Given the description of an element on the screen output the (x, y) to click on. 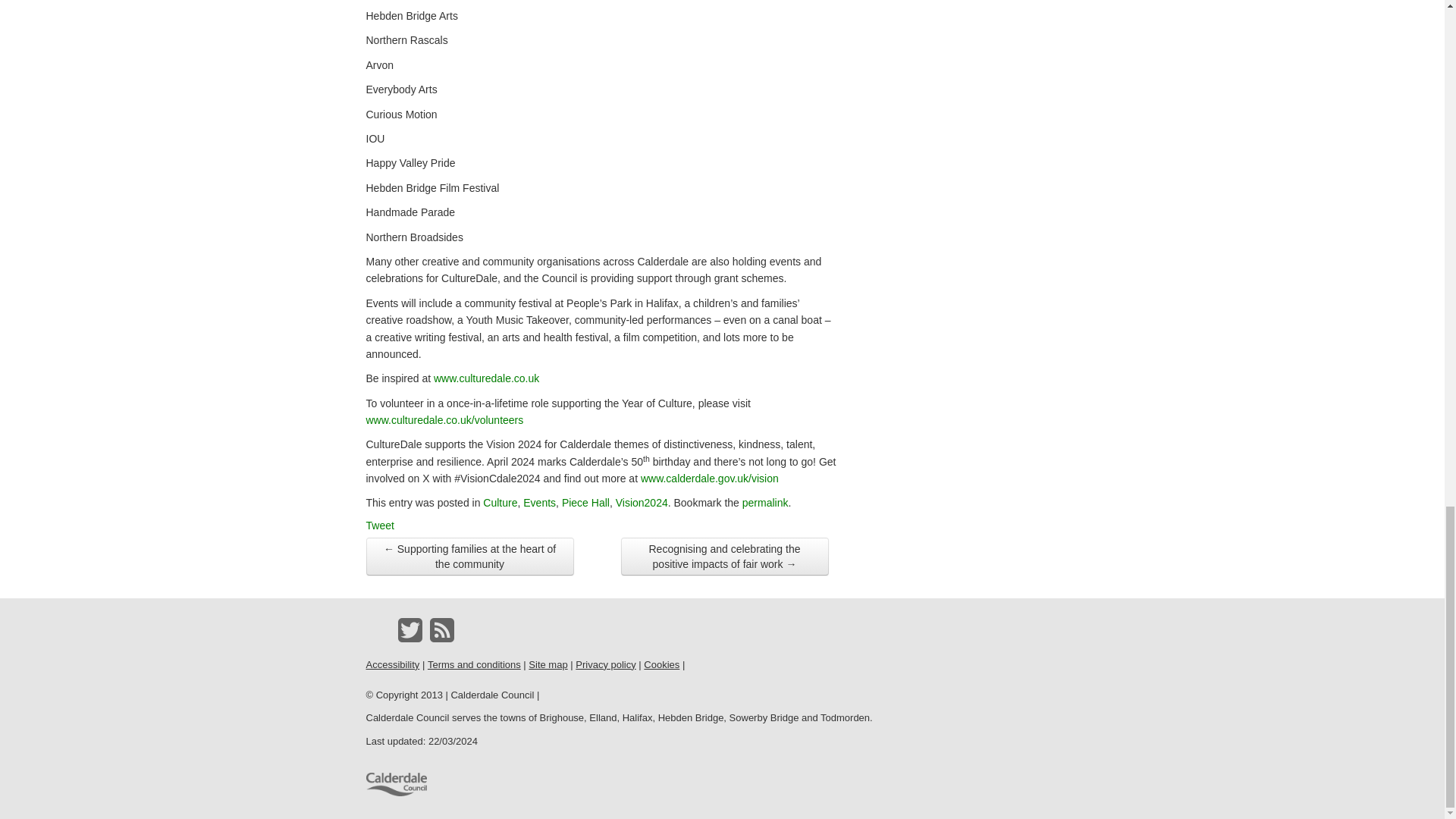
Facebook (377, 630)
Culture (499, 502)
Piece Hall (586, 502)
Tweet (379, 525)
Vision2024 (641, 502)
Twitter (409, 630)
Events (539, 502)
permalink (765, 502)
RSS (440, 630)
www.culturedale.co.uk (492, 378)
